Given the description of an element on the screen output the (x, y) to click on. 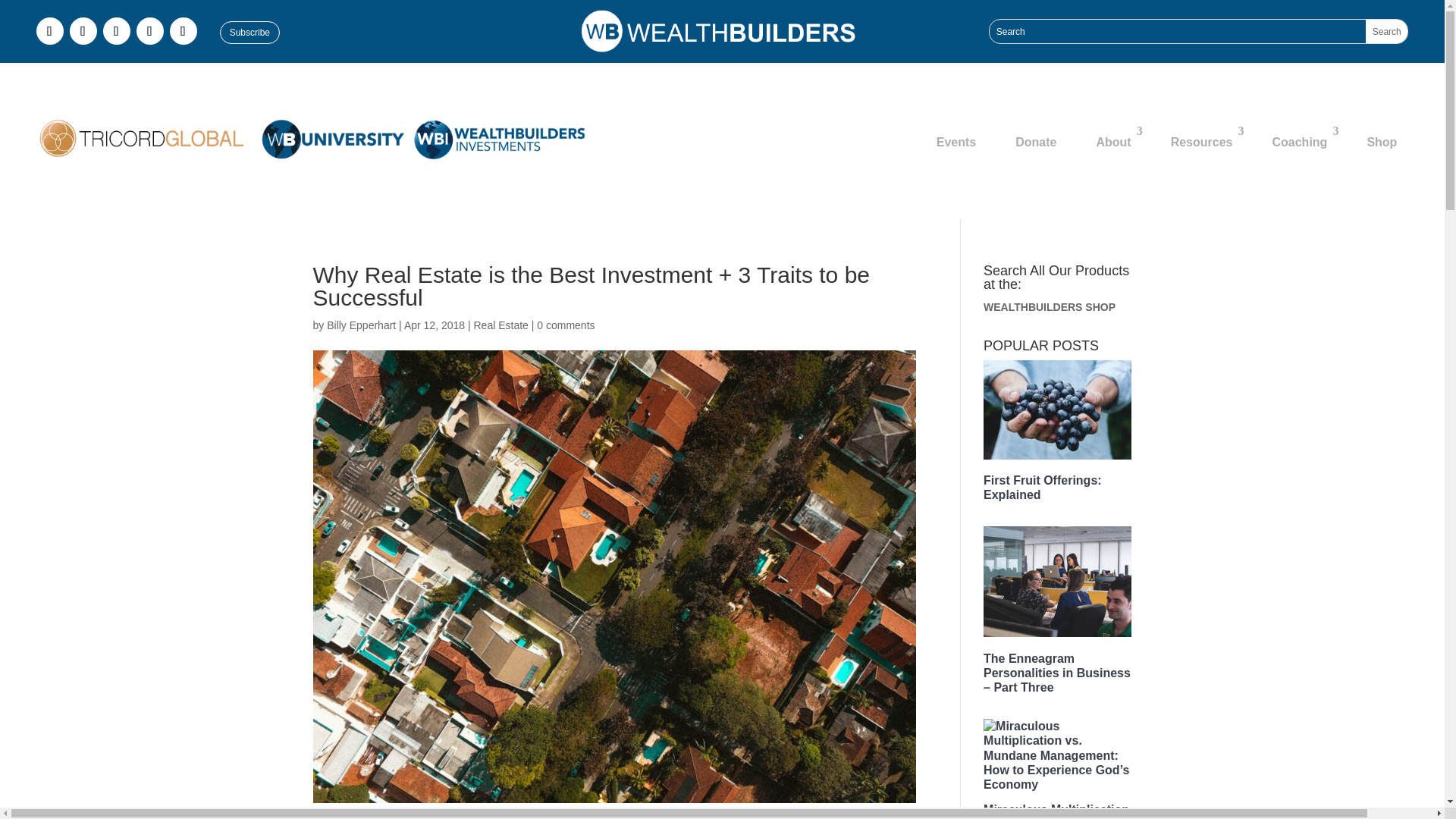
Posts by Billy Epperhart (361, 325)
Subscribe (249, 32)
Follow on X (117, 31)
Search (1386, 31)
Donate (1035, 142)
Events (955, 142)
About (1112, 142)
Follow on Youtube (183, 31)
top logo (722, 31)
Follow on Facebook (50, 31)
